Given the description of an element on the screen output the (x, y) to click on. 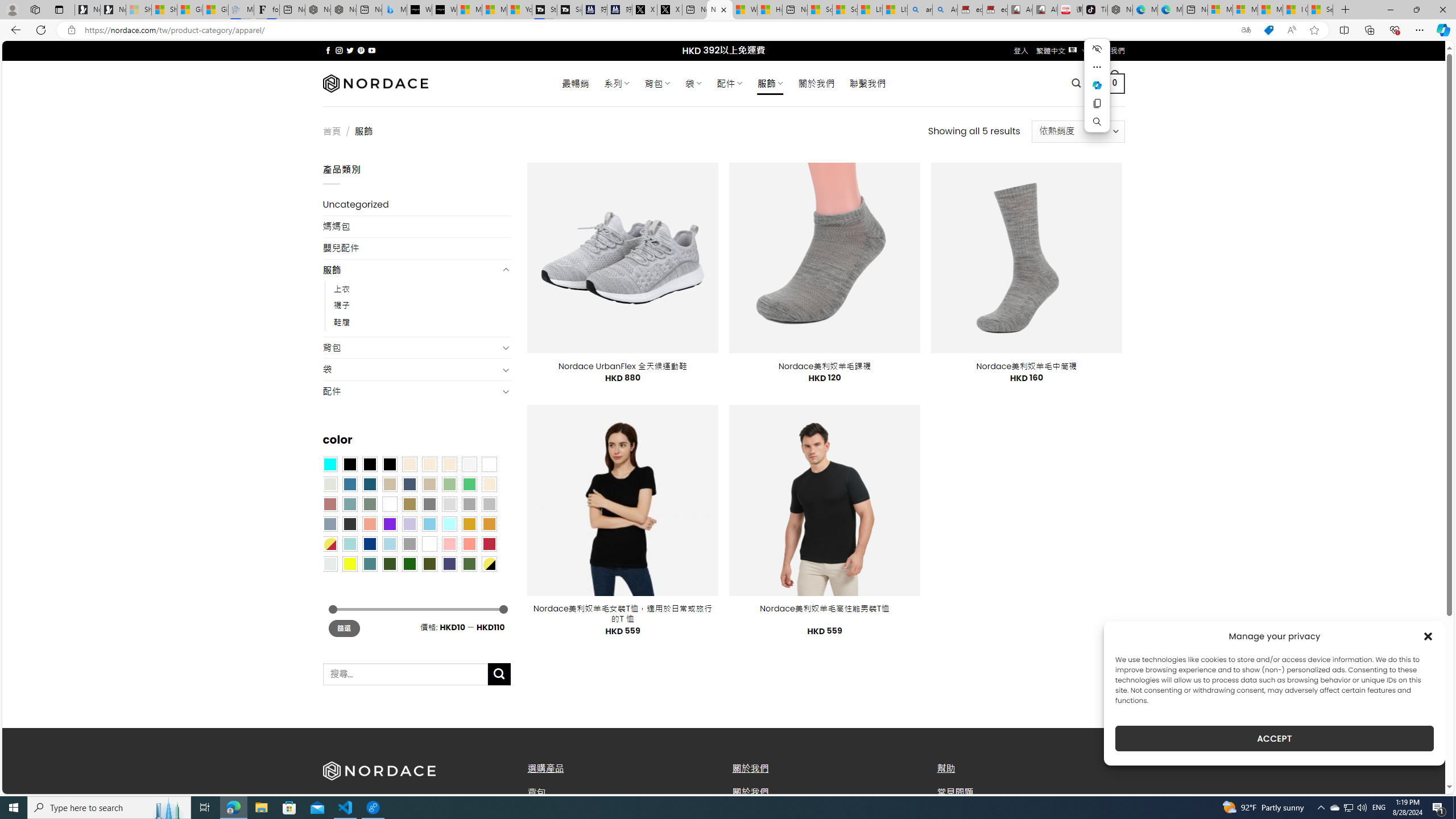
Back (13, 29)
